Given the description of an element on the screen output the (x, y) to click on. 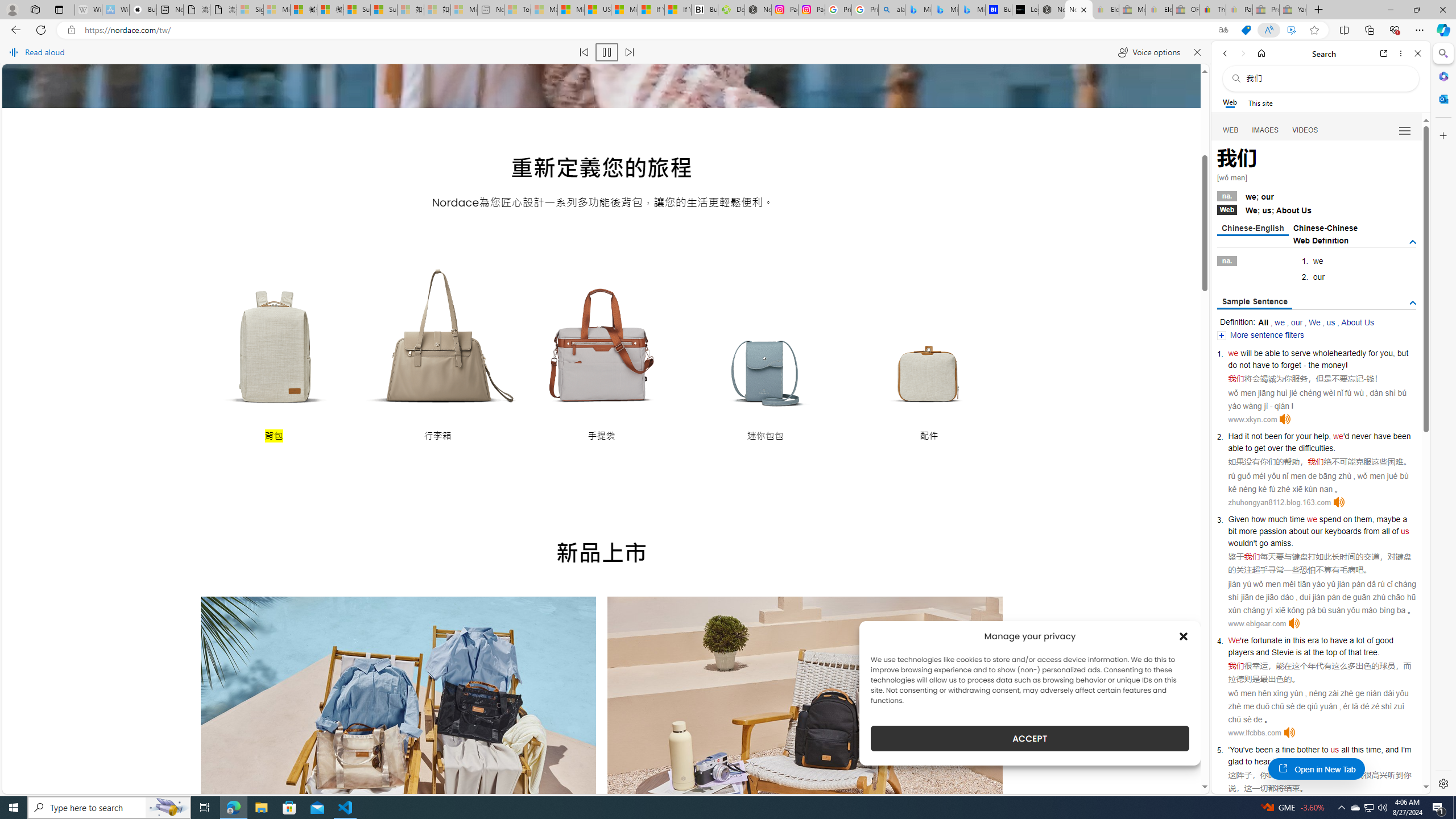
era (1313, 640)
I (1401, 749)
amiss (1280, 542)
in (1287, 640)
the (1290, 447)
Microsoft Bing Travel - Flights from Hong Kong to Bangkok (917, 9)
, (1381, 749)
